Given the description of an element on the screen output the (x, y) to click on. 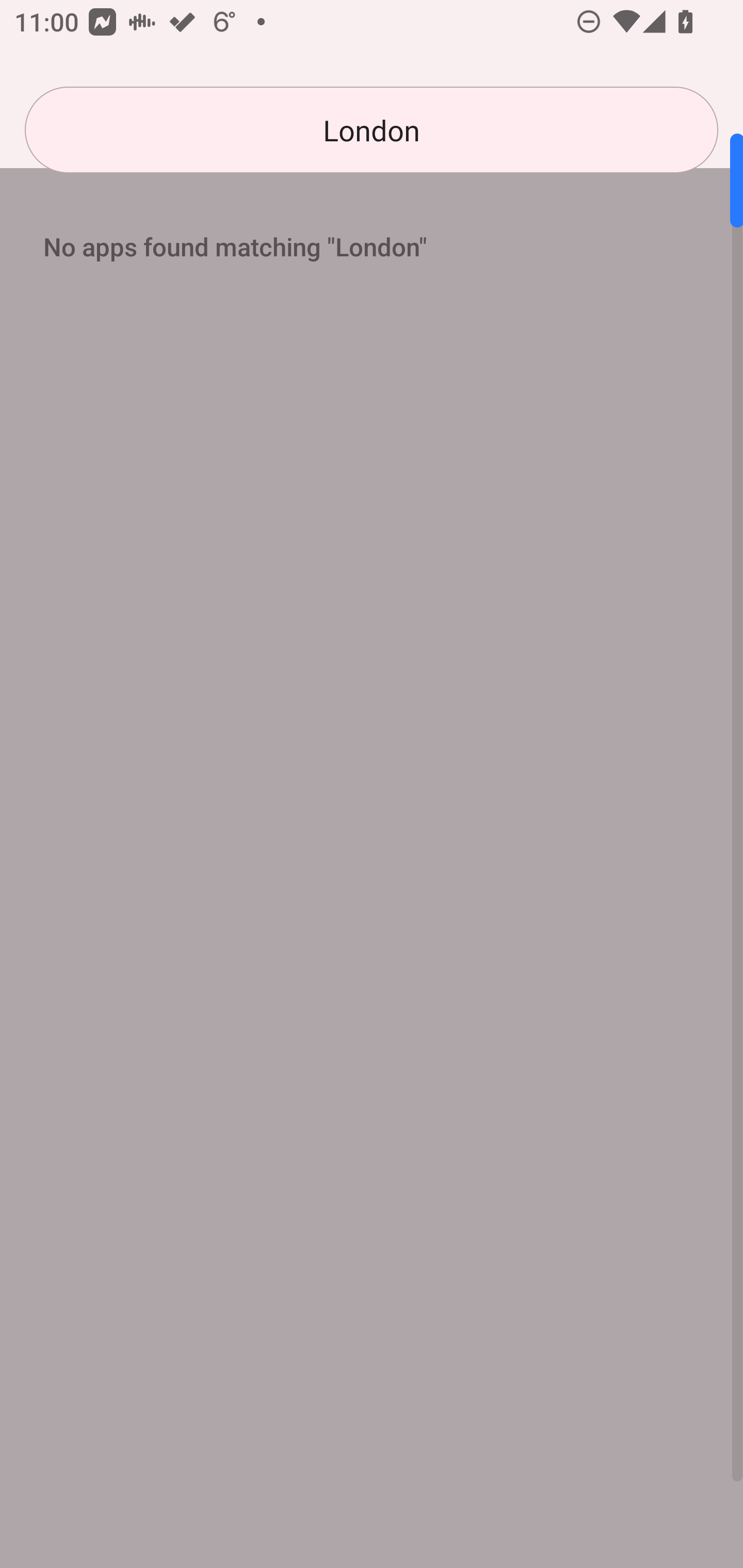
London (371, 130)
